Given the description of an element on the screen output the (x, y) to click on. 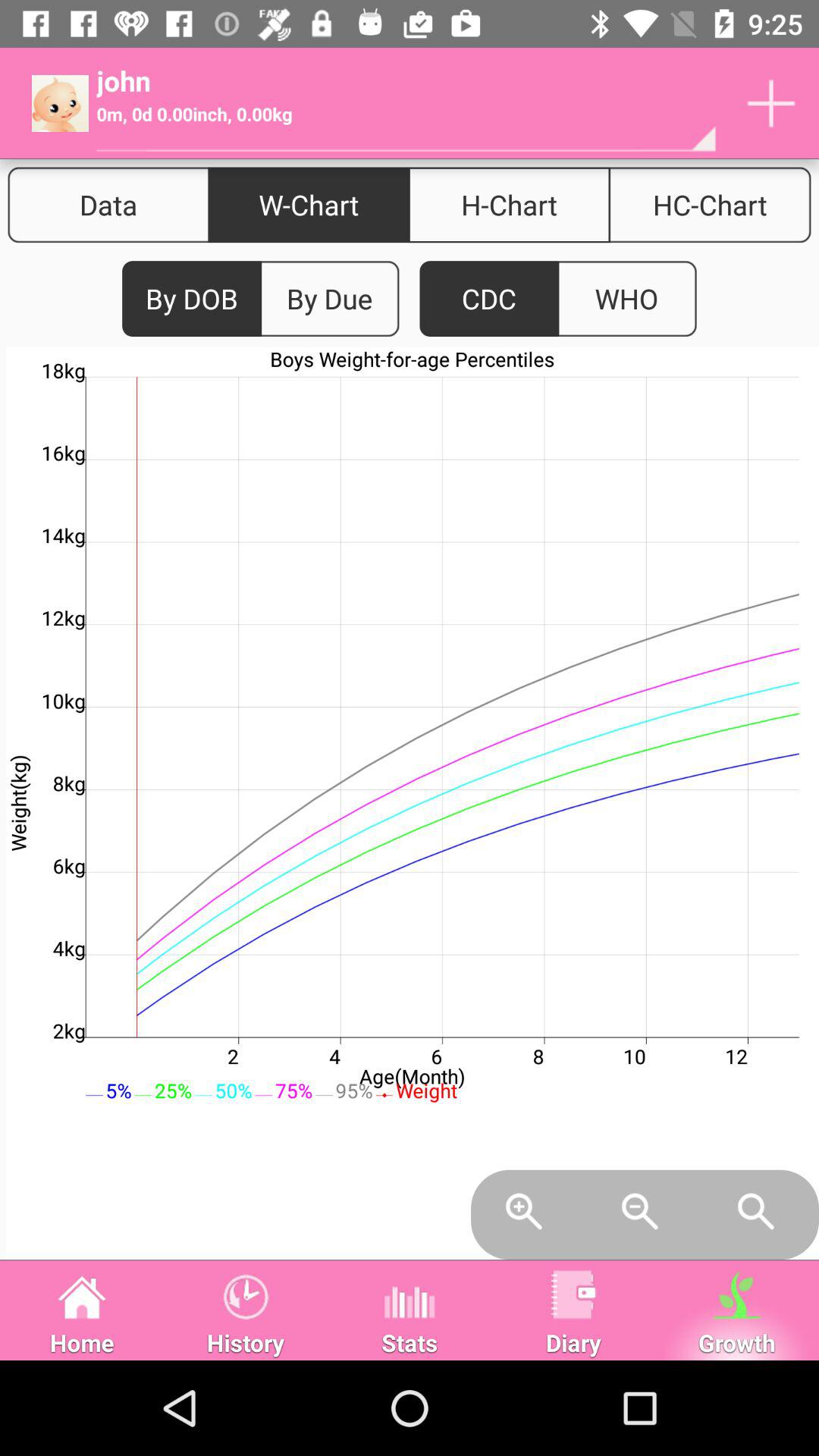
turn on by due icon (329, 298)
